Given the description of an element on the screen output the (x, y) to click on. 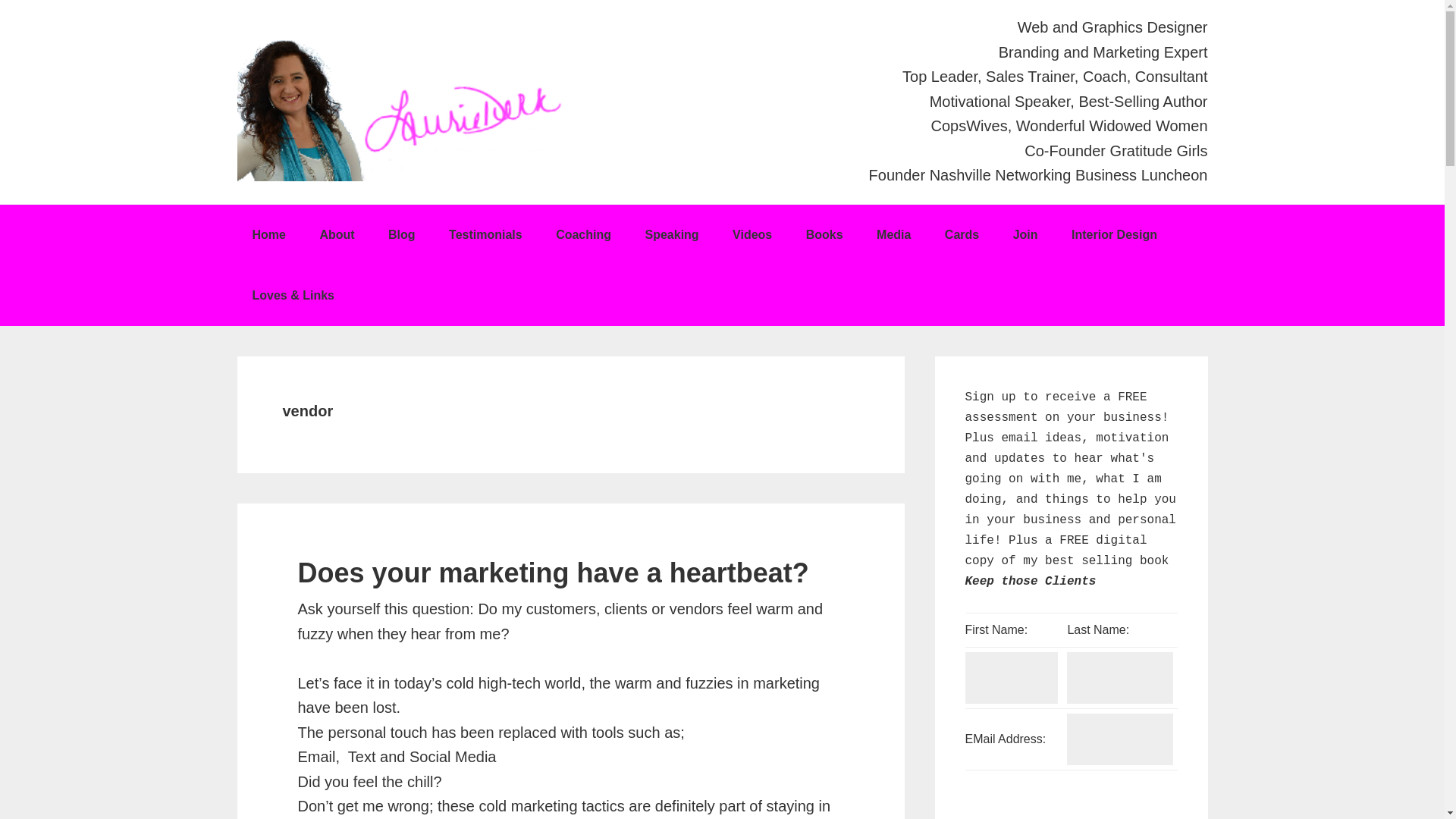
Interior Design (1114, 234)
Videos (752, 234)
Join (1024, 234)
About (336, 234)
Home (267, 234)
Media (893, 234)
Coaching (583, 234)
Speaking (670, 234)
Testimonials (485, 234)
Does your marketing have a heartbeat? (552, 572)
Cards (962, 234)
Blog (401, 234)
Books (824, 234)
